Given the description of an element on the screen output the (x, y) to click on. 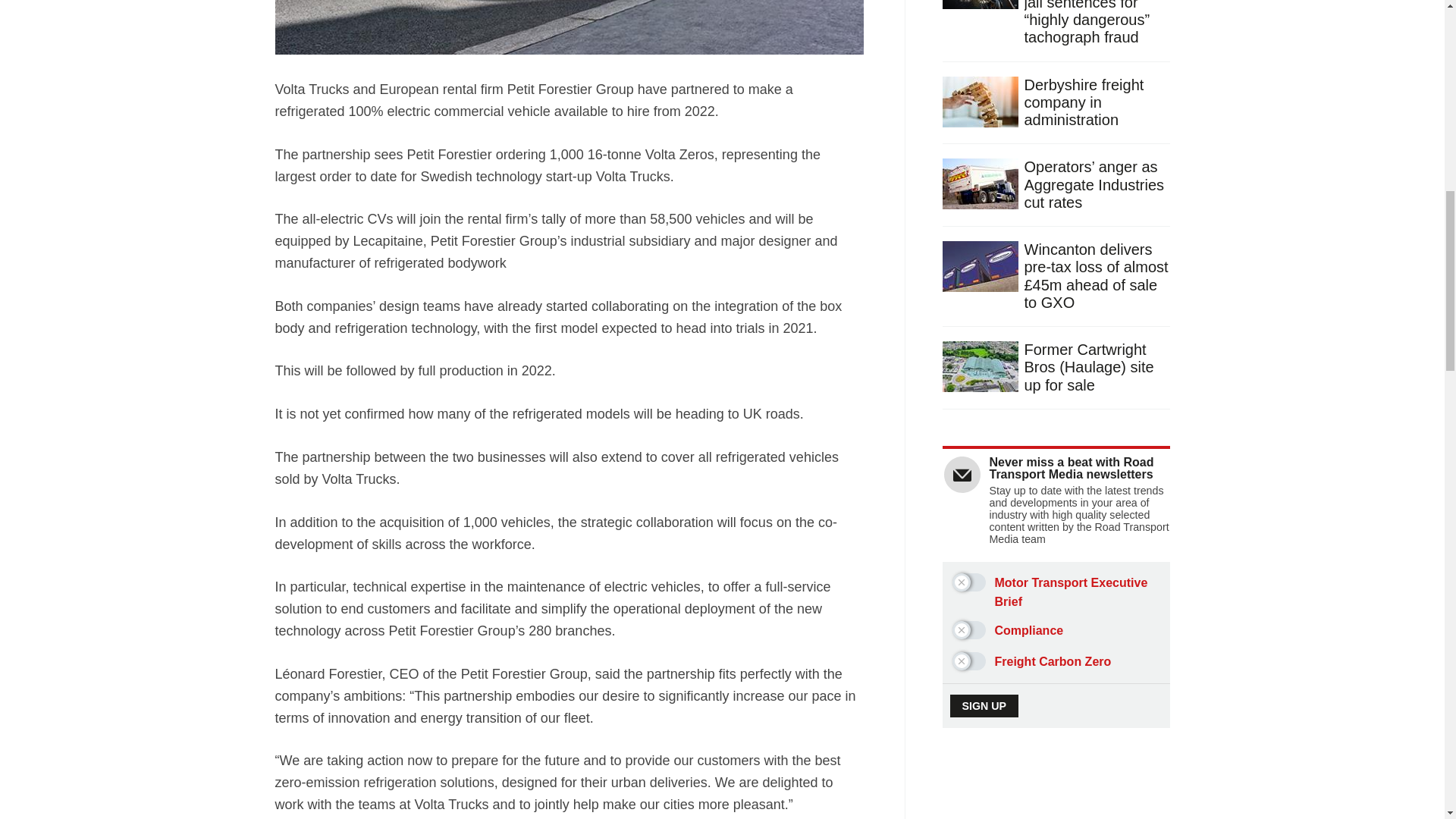
3rd party ad content (1056, 803)
